Given the description of an element on the screen output the (x, y) to click on. 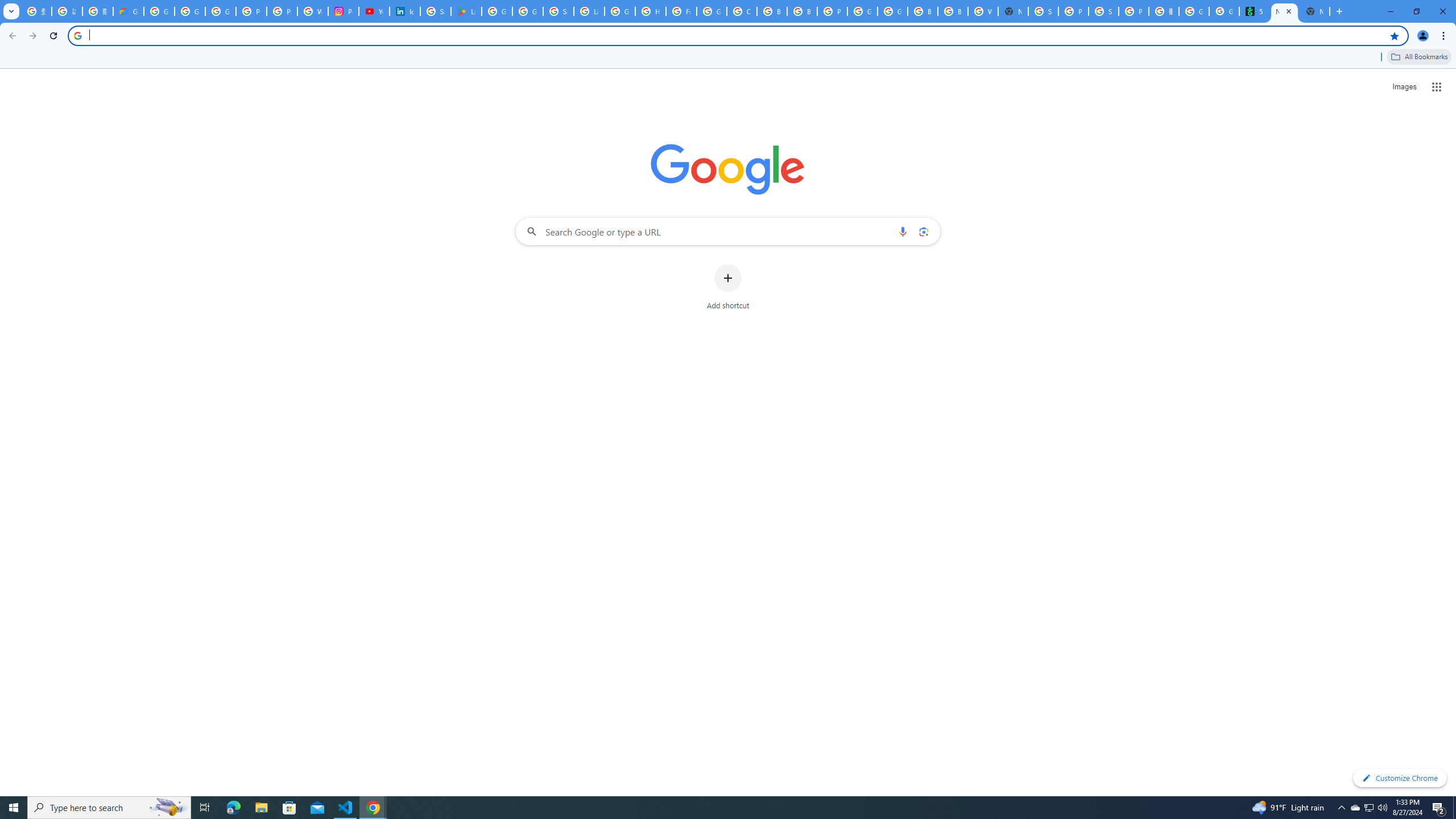
Search by image (922, 230)
Google Workspace - Specific Terms (527, 11)
Last Shelter: Survival - Apps on Google Play (465, 11)
Google Cloud Platform (892, 11)
All Bookmarks (1418, 56)
Browse Chrome as a guest - Computer - Google Chrome Help (922, 11)
Sign in - Google Accounts (1042, 11)
How do I create a new Google Account? - Google Account Help (650, 11)
